Given the description of an element on the screen output the (x, y) to click on. 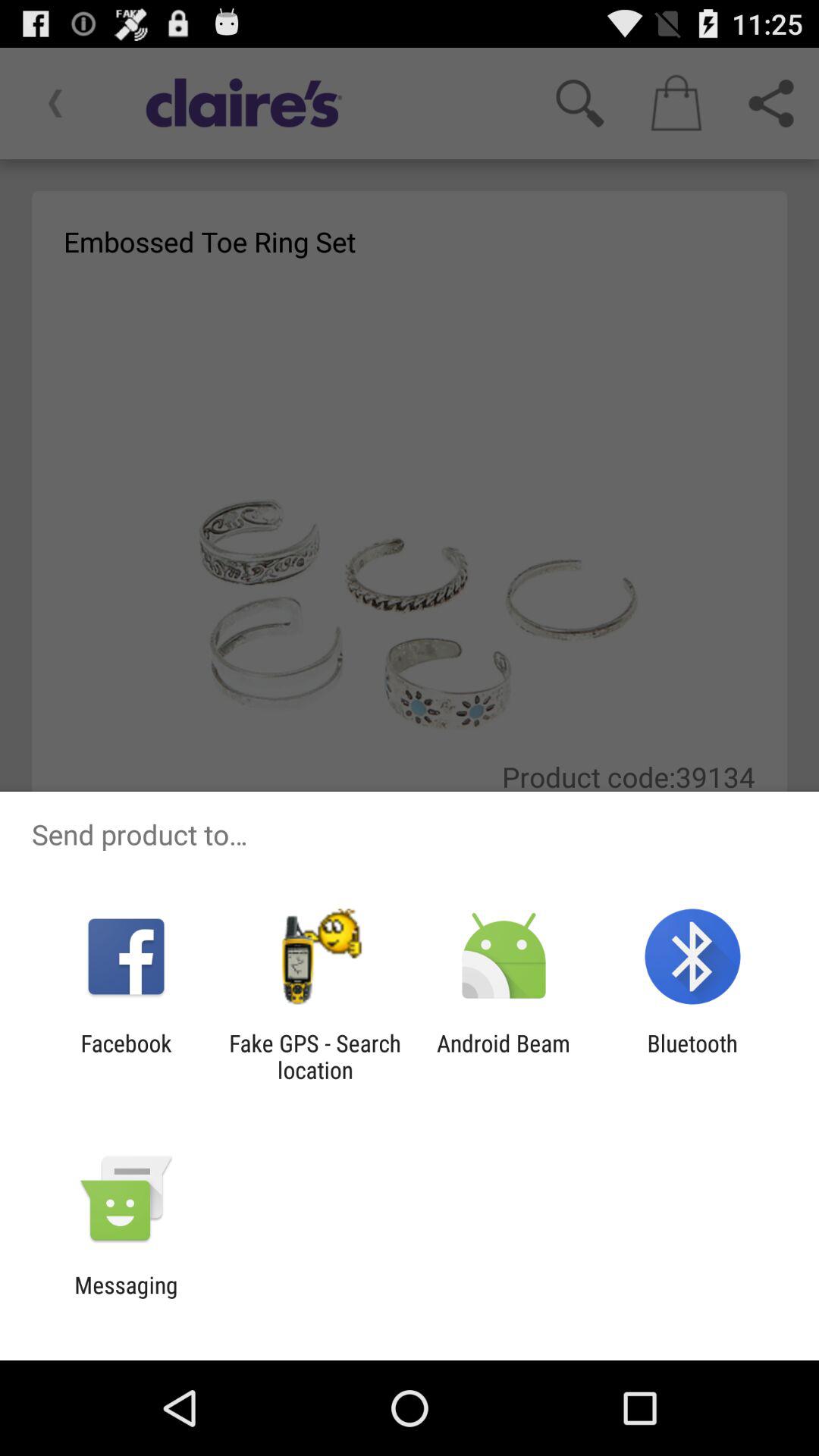
swipe until android beam item (503, 1056)
